Given the description of an element on the screen output the (x, y) to click on. 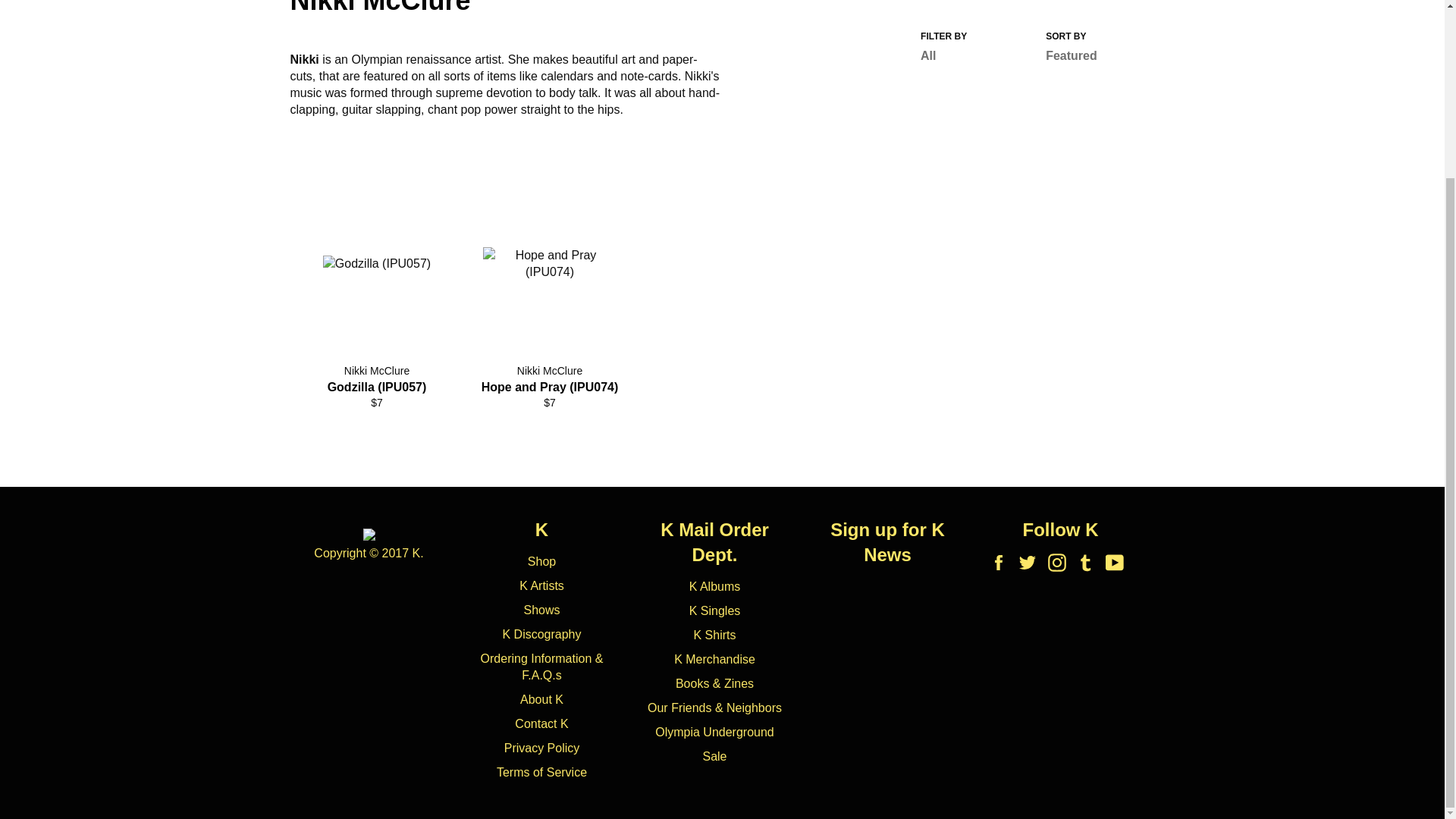
The K Mail Order Department on Twitter (1030, 562)
The K Mail Order Department on YouTube (1118, 562)
The K Mail Order Department on Facebook (1002, 562)
The K Mail Order Department on Tumblr (1089, 562)
The K Mail Order Department on Instagram (1061, 562)
